Given the description of an element on the screen output the (x, y) to click on. 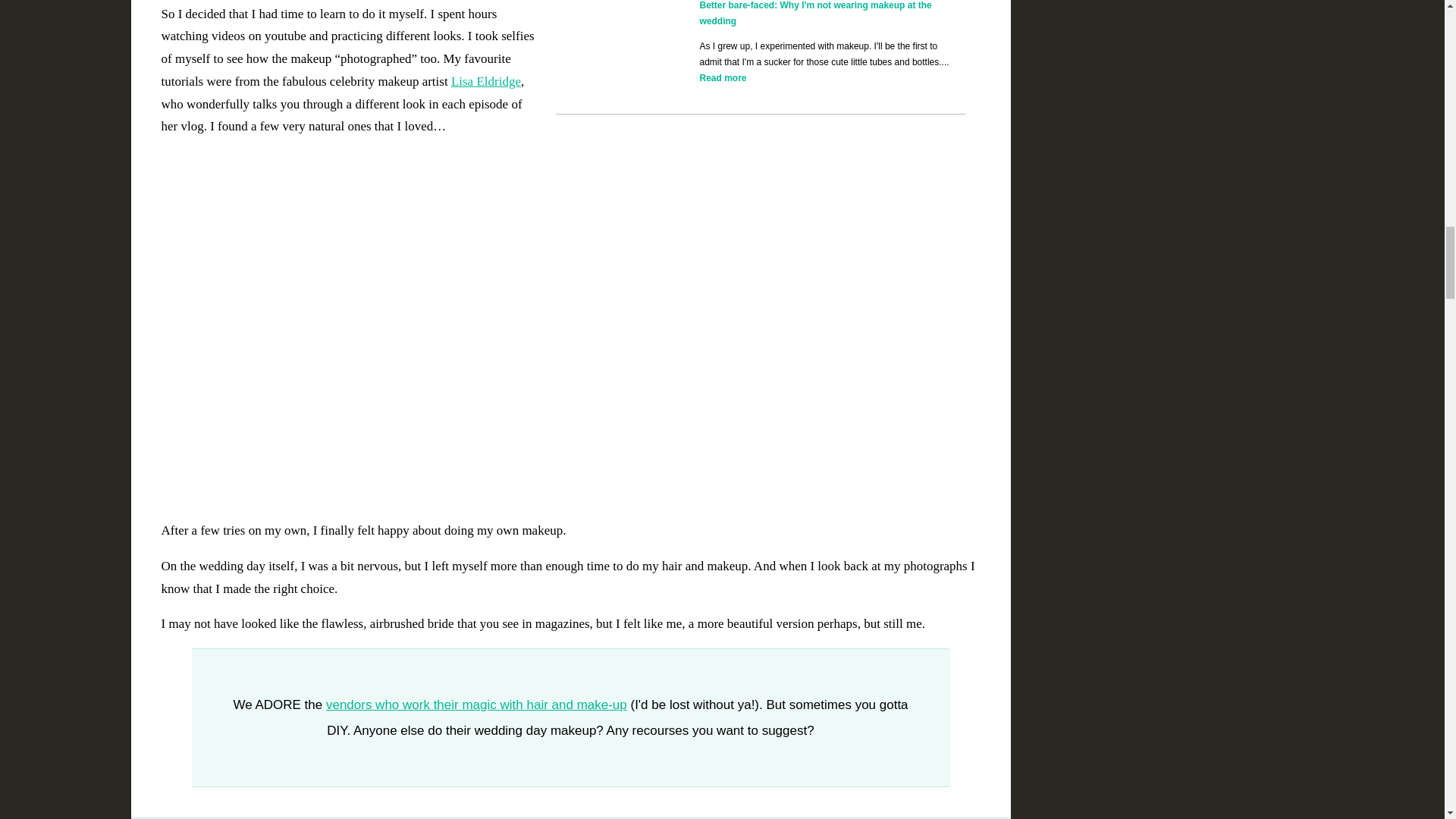
vendors who work their magic with hair and make-up (476, 704)
Better bare-faced: Why I'm not wearing makeup at the wedding (814, 13)
Lisa Eldridge (486, 81)
Read more (721, 77)
